Given the description of an element on the screen output the (x, y) to click on. 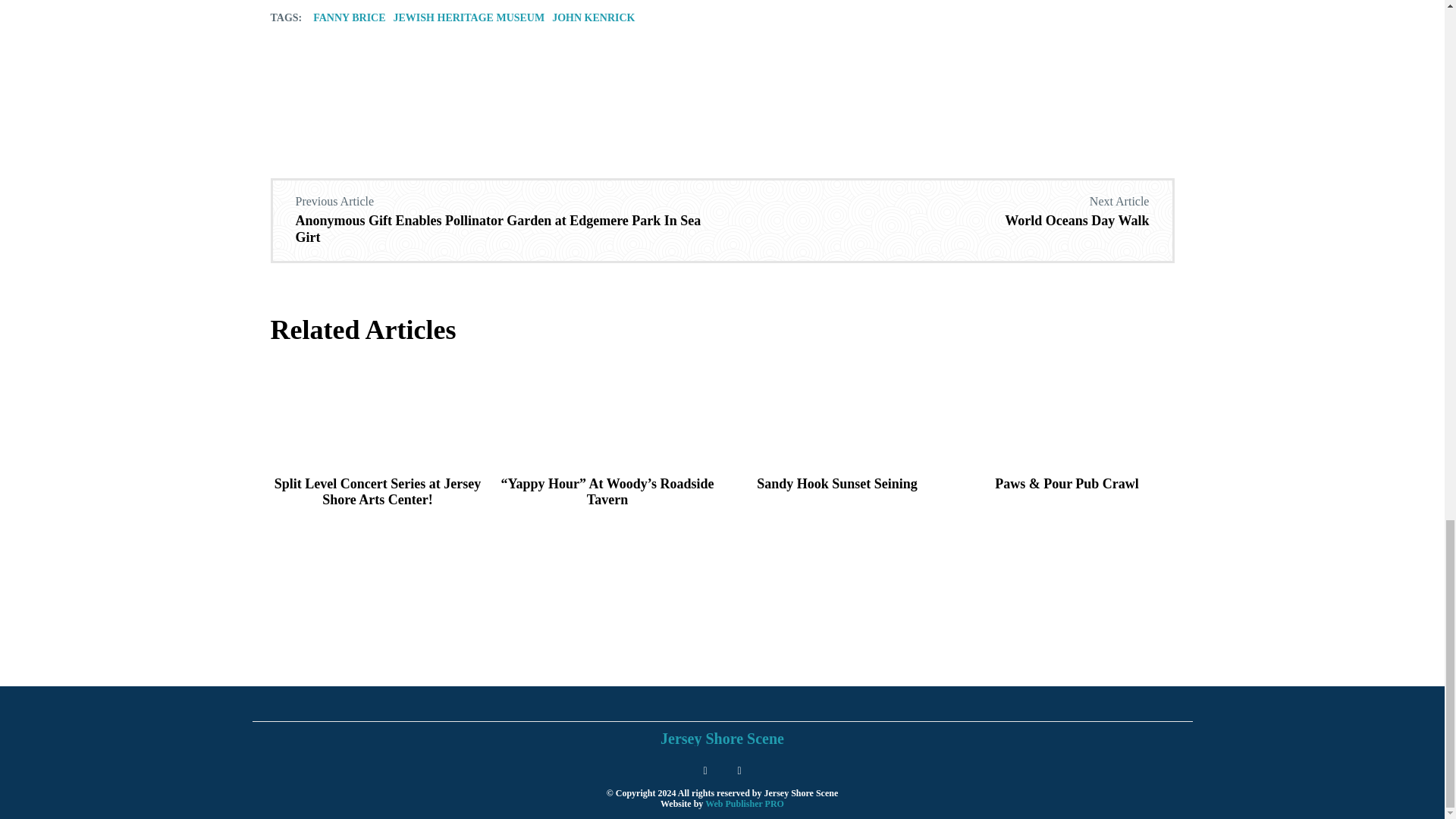
Split Level Concert Series at Jersey Shore Arts Center! (377, 491)
Split Level Concert Series at Jersey Shore Arts Center! (376, 412)
